Given the description of an element on the screen output the (x, y) to click on. 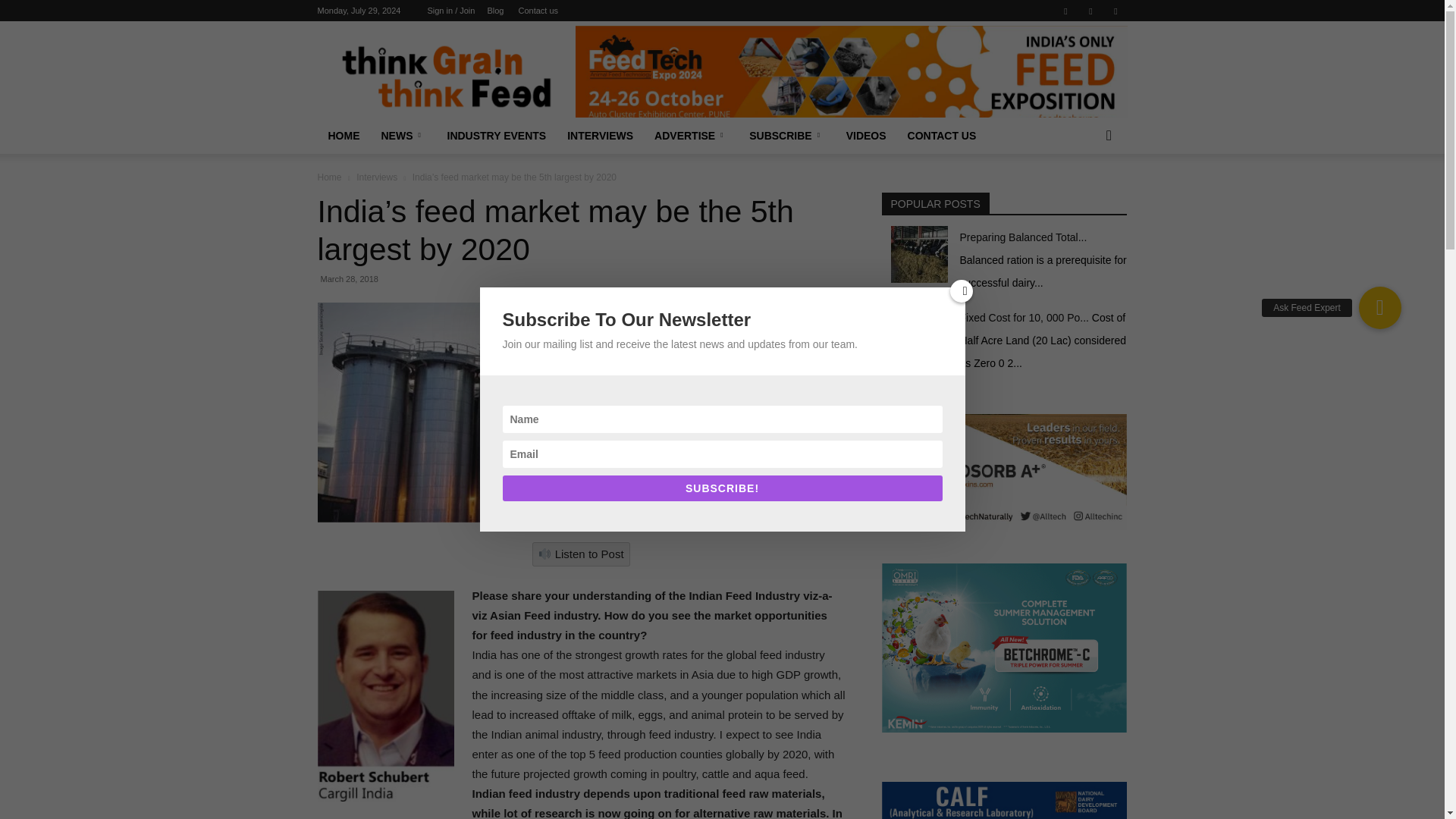
View all posts in Interviews (376, 176)
cargill (580, 412)
Blog (494, 10)
Facebook (1065, 10)
Contact us (538, 10)
Twitter (1114, 10)
Linkedin (1090, 10)
HOME (343, 135)
NEWS (402, 135)
